Given the description of an element on the screen output the (x, y) to click on. 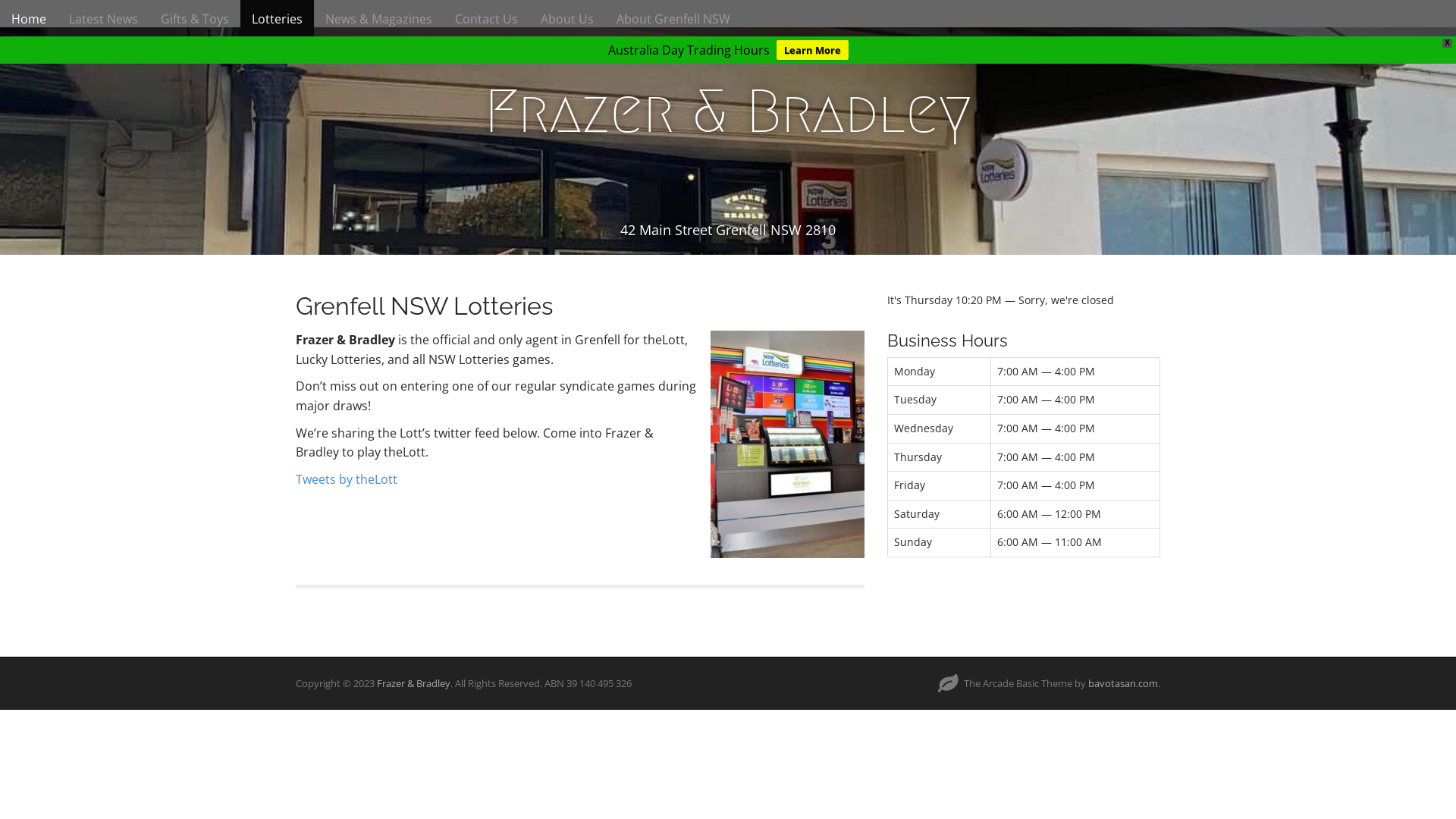
Learn More Element type: text (812, 49)
Frazer & Bradley Element type: text (413, 683)
About Grenfell NSW Element type: text (673, 18)
Latest News Element type: text (103, 18)
About Us Element type: text (567, 18)
bavotasan.com Element type: text (1122, 683)
Tweets by theLott Element type: text (346, 478)
Contact Us Element type: text (486, 18)
Lotteries Element type: text (276, 18)
Home Element type: text (28, 18)
News & Magazines Element type: text (378, 18)
Gifts & Toys Element type: text (194, 18)
